Given the description of an element on the screen output the (x, y) to click on. 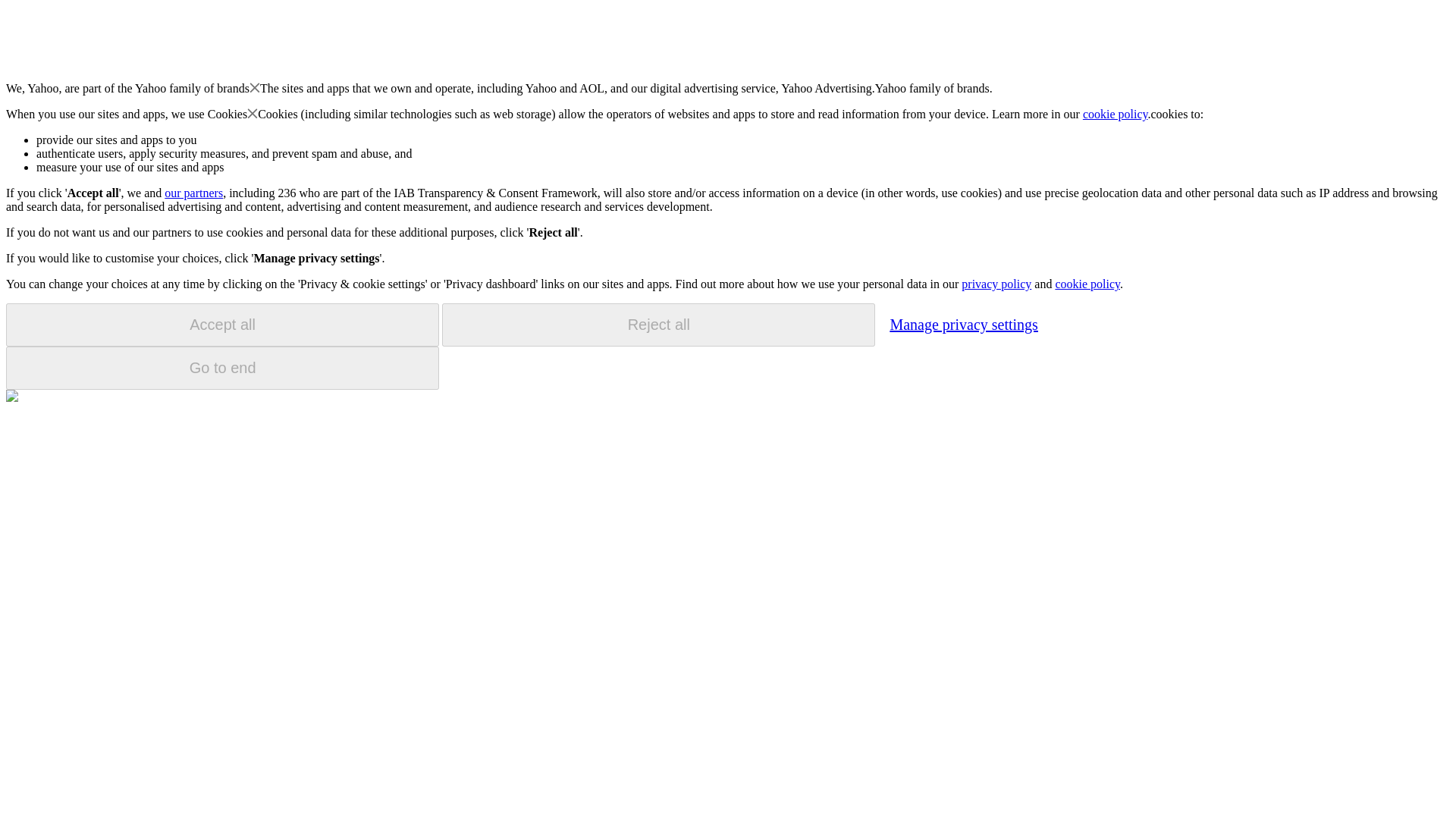
privacy policy (995, 283)
Go to end (222, 367)
cookie policy (1086, 283)
cookie policy (1115, 113)
our partners (193, 192)
Reject all (658, 324)
Accept all (222, 324)
Manage privacy settings (963, 323)
